Given the description of an element on the screen output the (x, y) to click on. 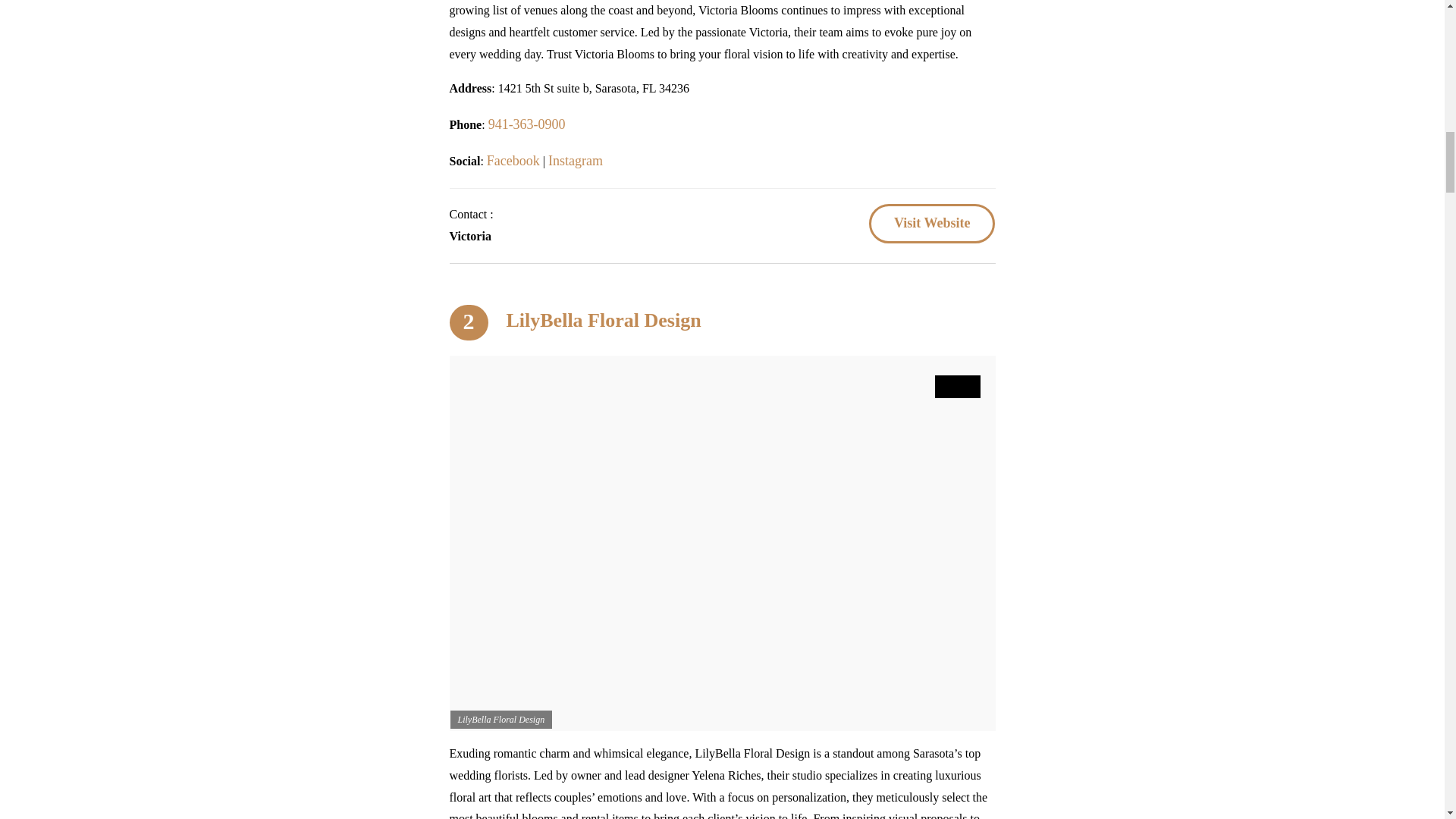
Facebook (513, 160)
941-363-0900 (526, 124)
